Given the description of an element on the screen output the (x, y) to click on. 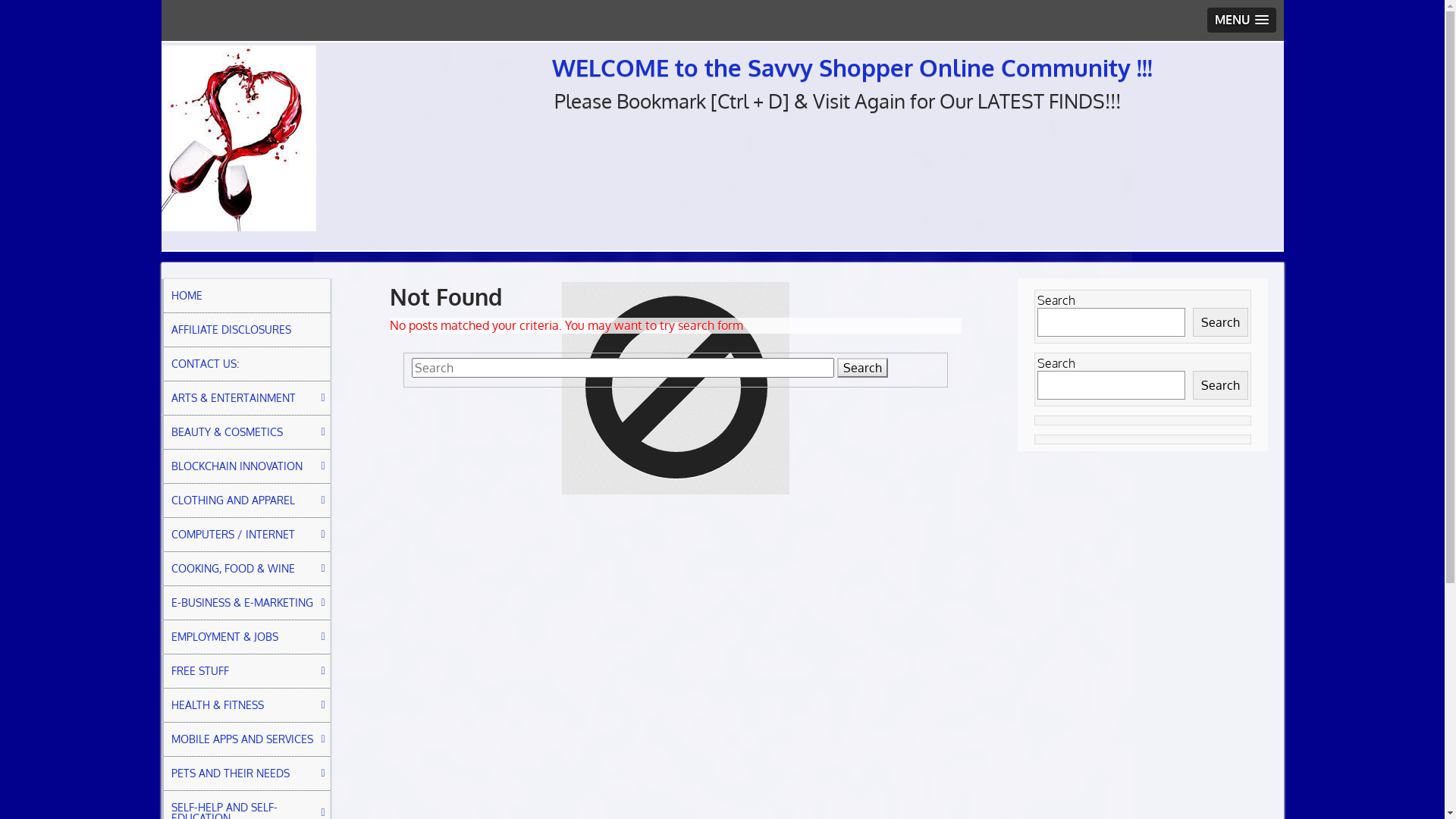
COOKING, FOOD & WINE Element type: text (245, 568)
Search Element type: text (1220, 384)
FREE STUFF Element type: text (245, 670)
Search Element type: text (862, 367)
MENU Element type: text (1241, 19)
E-BUSINESS & E-MARKETING Element type: text (245, 602)
MOBILE APPS AND SERVICES Element type: text (245, 739)
EMPLOYMENT & JOBS Element type: text (245, 636)
HOME Element type: text (245, 295)
PETS AND THEIR NEEDS Element type: text (245, 773)
Skip to content Element type: text (160, 40)
ARTS & ENTERTAINMENT Element type: text (245, 397)
WELCOME to the Savvy Shopper Online Community !!! Element type: text (852, 66)
BEAUTY & COSMETICS Element type: text (245, 431)
CLOTHING AND APPAREL Element type: text (245, 500)
AFFILIATE DISCLOSURES Element type: text (245, 329)
HEALTH & FITNESS Element type: text (245, 704)
BLOCKCHAIN INNOVATION Element type: text (245, 466)
Search Element type: text (1220, 321)
CONTACT US: Element type: text (245, 363)
COMPUTERS / INTERNET Element type: text (245, 534)
